Given the description of an element on the screen output the (x, y) to click on. 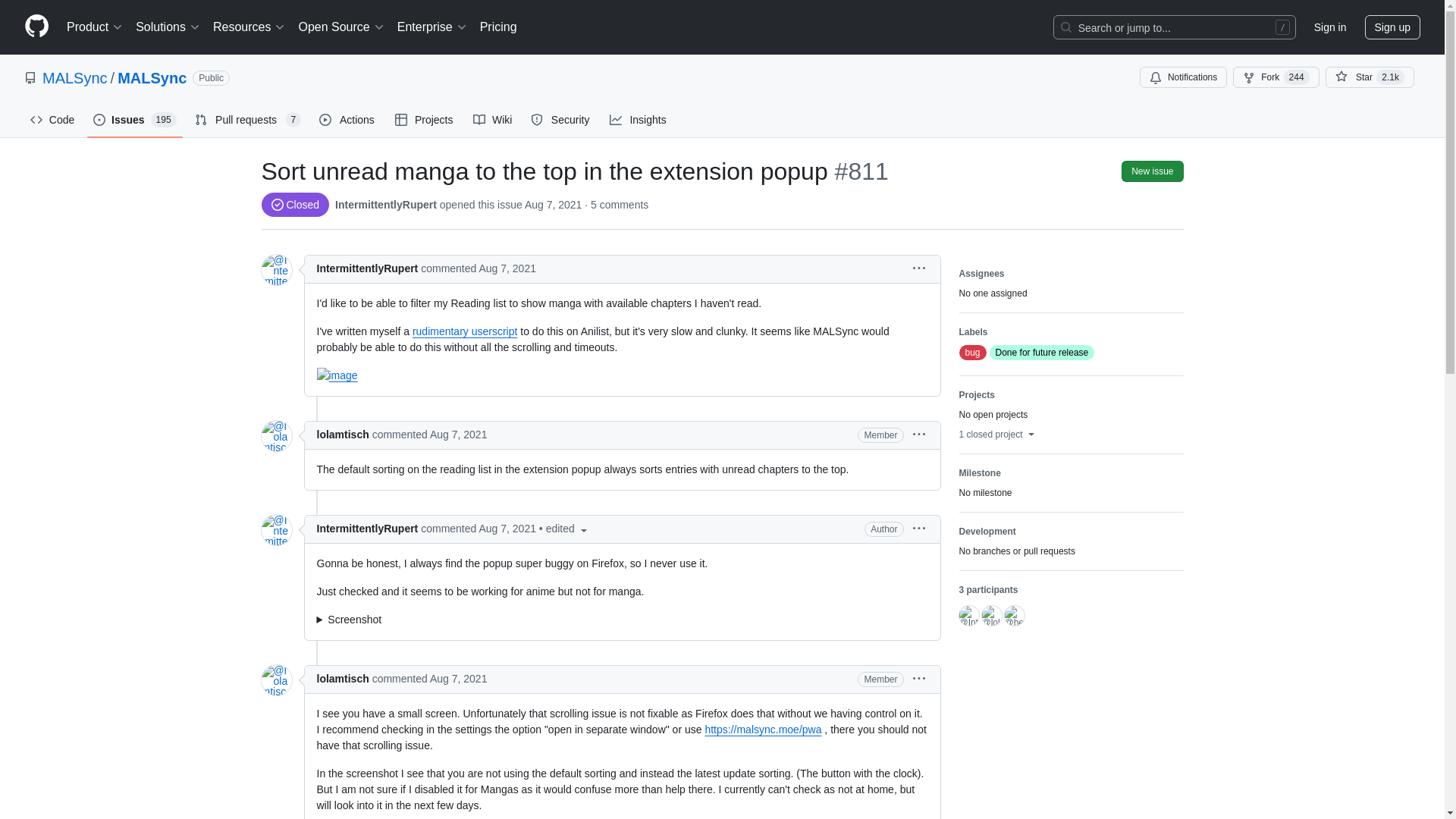
Solutions (167, 27)
Resources (249, 27)
Product (95, 27)
Status: Closed (294, 204)
7 (293, 119)
2,147 (1390, 77)
195 (163, 119)
Open Source (341, 27)
244 (1296, 77)
